Given the description of an element on the screen output the (x, y) to click on. 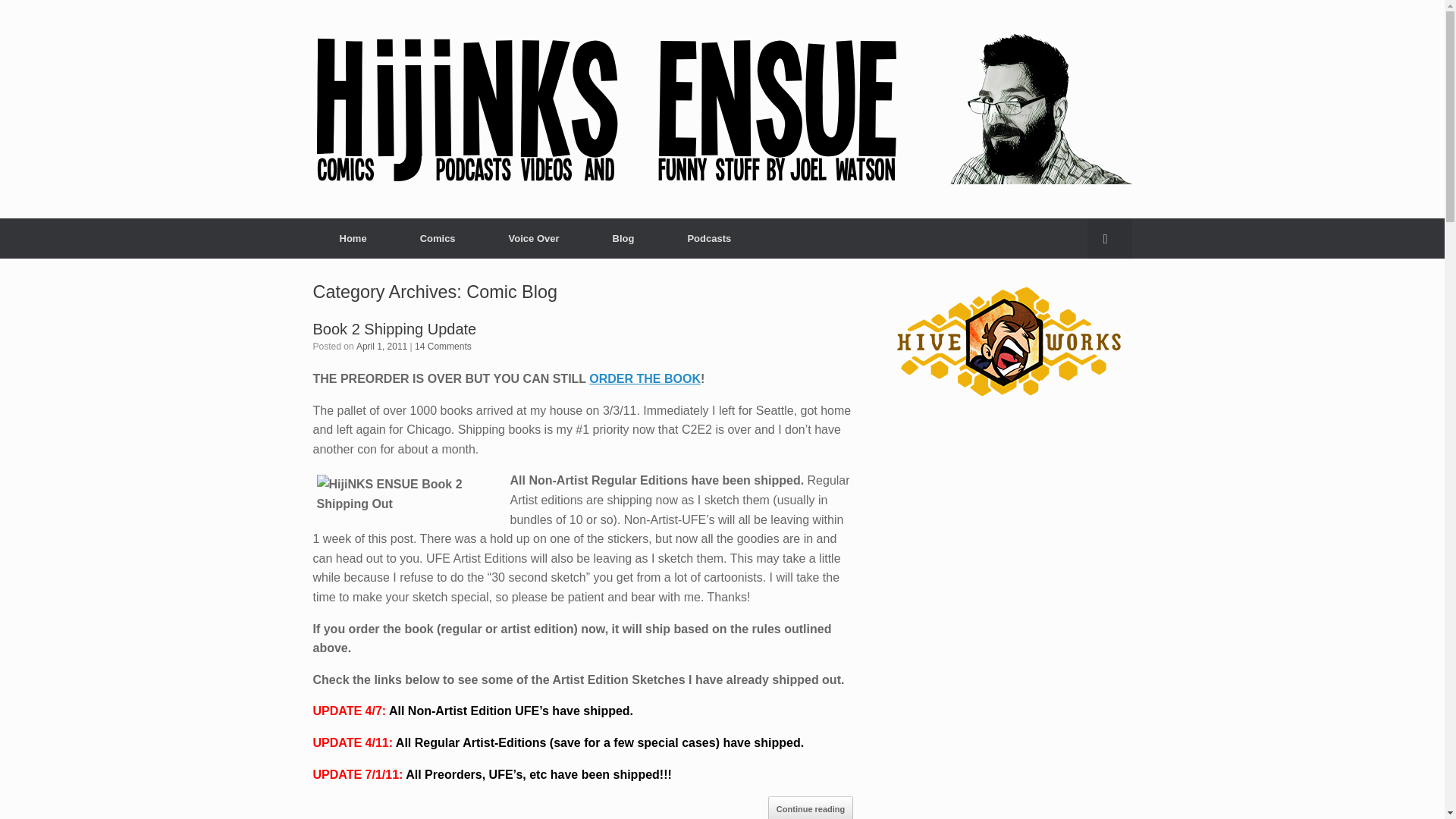
Continue reading (810, 807)
14 Comments (442, 346)
Book 2 Shipping Update (394, 328)
Comics (437, 238)
April 1, 2011 (381, 346)
HijiNKS ENSUE (722, 109)
ORDER THE BOOK (644, 378)
Permalink to Book 2 Shipping Update (394, 328)
Voice Over (533, 238)
Blog (623, 238)
